Given the description of an element on the screen output the (x, y) to click on. 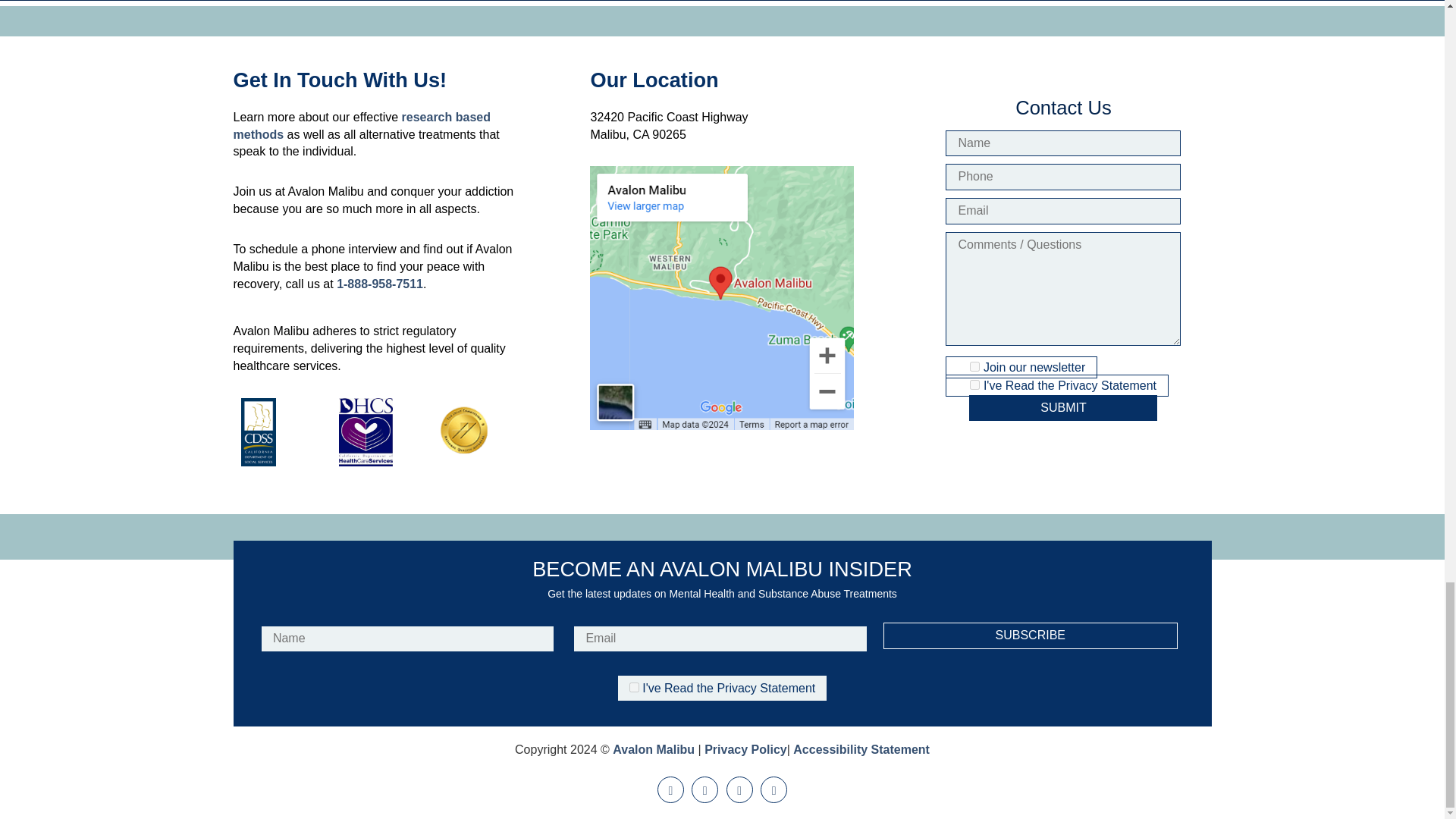
instagram (739, 789)
twitter (671, 789)
Subscribe (1030, 635)
linkedin (773, 789)
I've Read the Privacy Statement (633, 686)
facebook (704, 789)
Submit (1063, 407)
I've Read the Privacy Statement (974, 384)
Join our newsletter (974, 366)
